Given the description of an element on the screen output the (x, y) to click on. 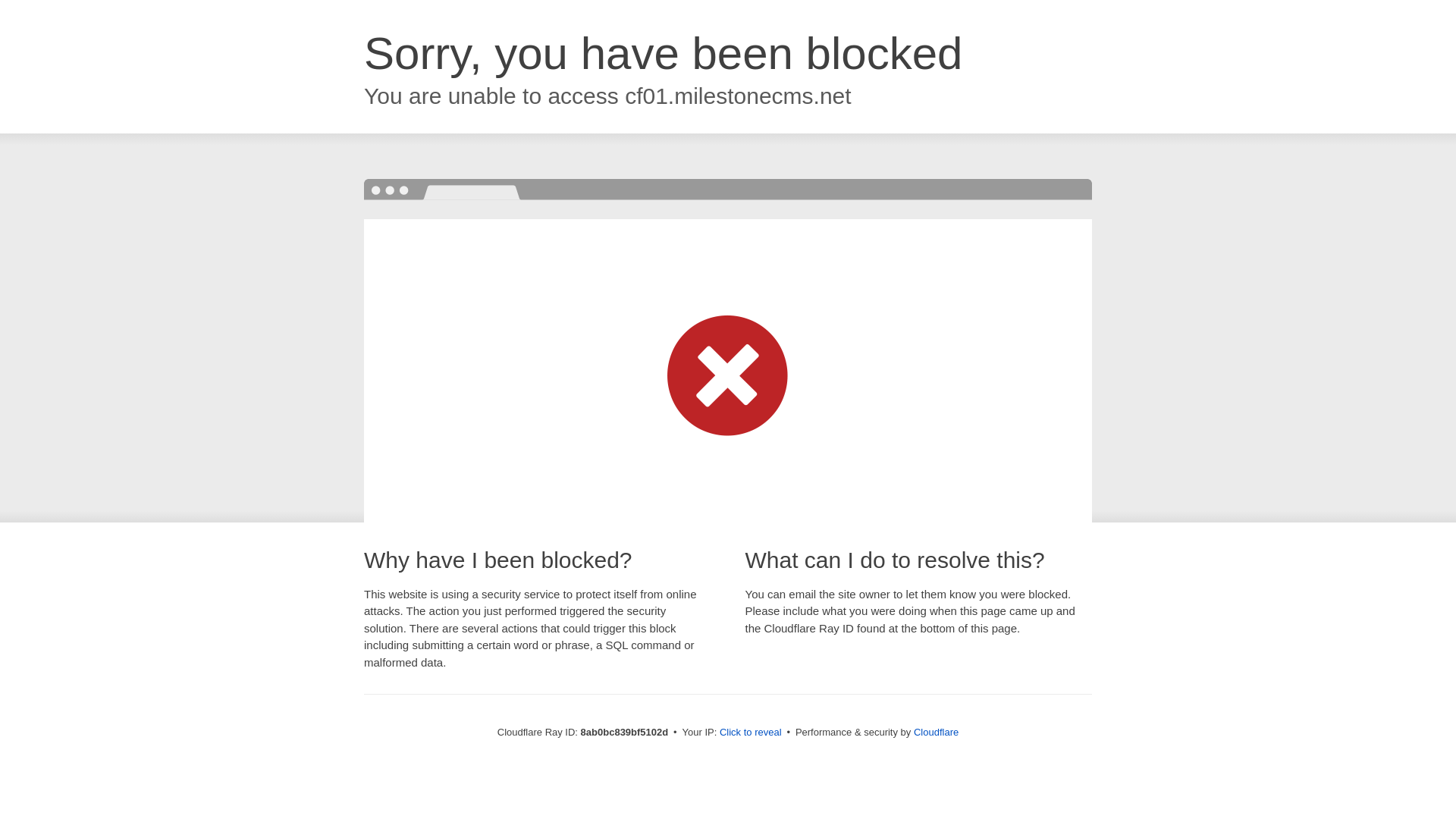
Click to reveal (750, 732)
Cloudflare (936, 731)
